Given the description of an element on the screen output the (x, y) to click on. 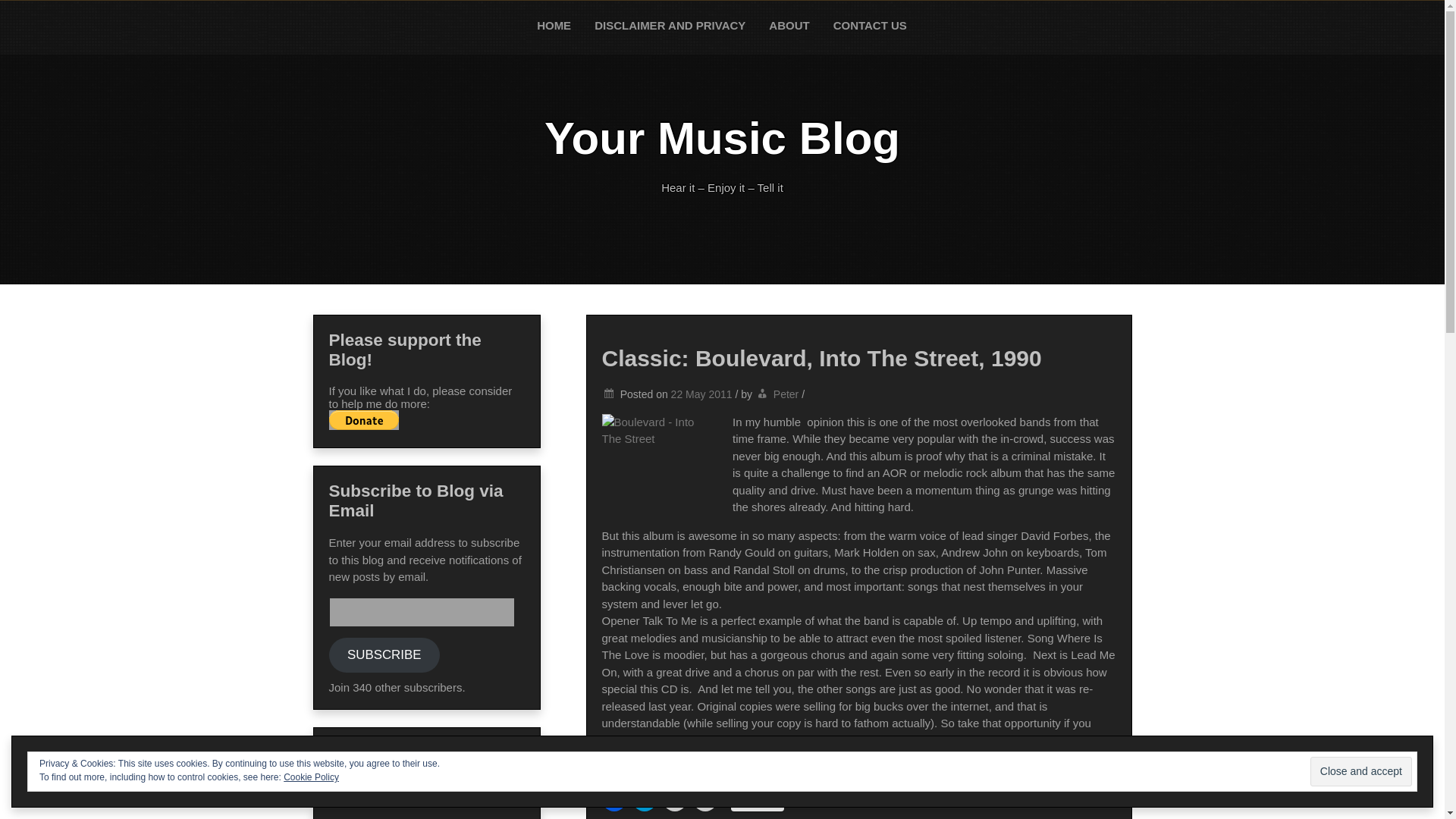
Click to share on Twitter (643, 799)
Click to email a link to a friend (705, 799)
Your Music Blog (721, 138)
CONTACT US (870, 25)
HOME (554, 25)
Peter (785, 394)
22 May 2011 (701, 394)
Search (28, 14)
ABOUT (789, 25)
Click to print (674, 799)
More (757, 799)
Close and accept (1361, 771)
SUBSCRIBE (384, 655)
DISCLAIMER AND PRIVACY (670, 25)
Click to share on Facebook (614, 799)
